Given the description of an element on the screen output the (x, y) to click on. 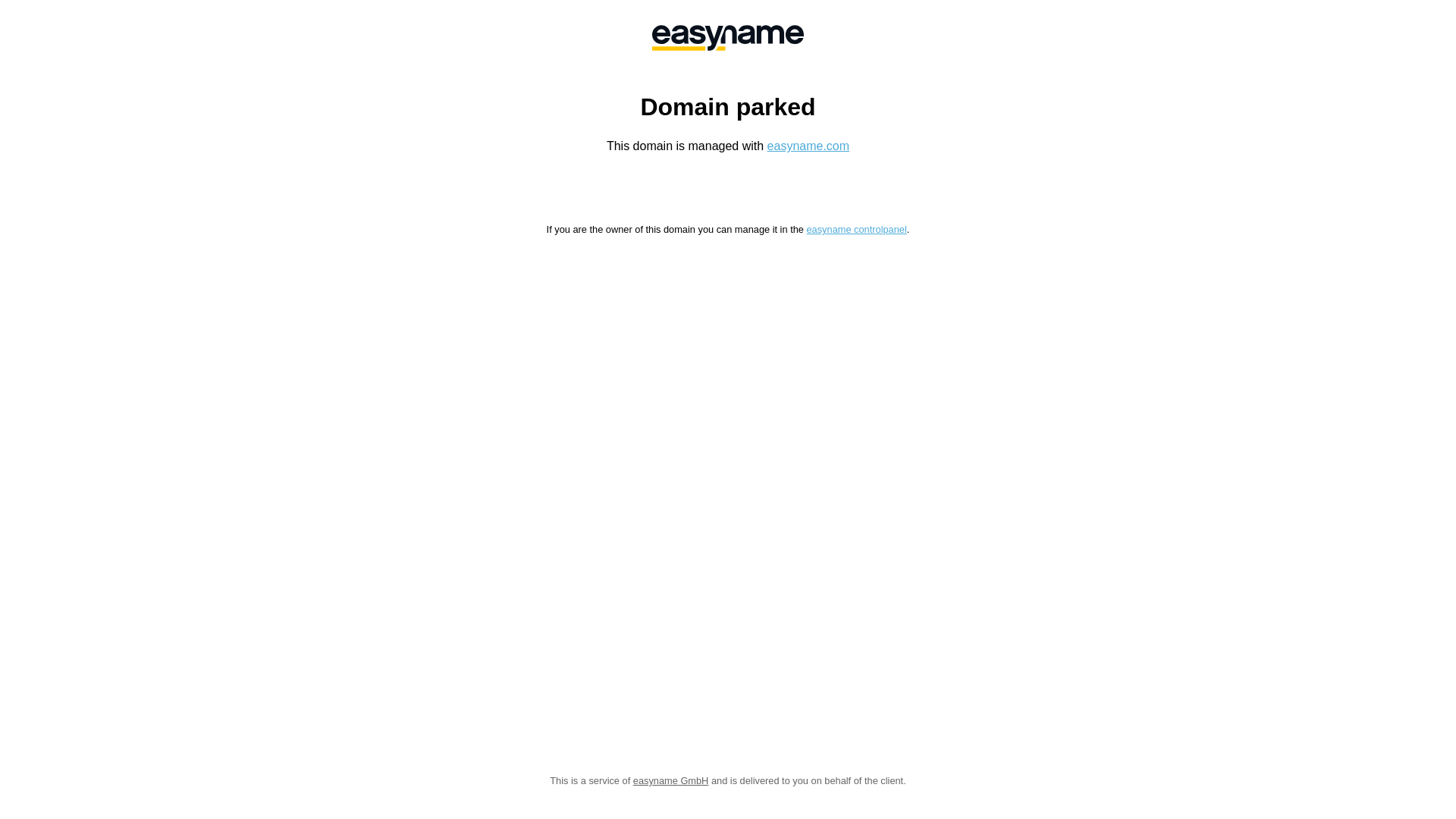
easyname GmbH Element type: text (671, 780)
easyname controlpanel Element type: text (856, 229)
easyname.com Element type: text (808, 145)
easyname GmbH Element type: hover (727, 37)
